Given the description of an element on the screen output the (x, y) to click on. 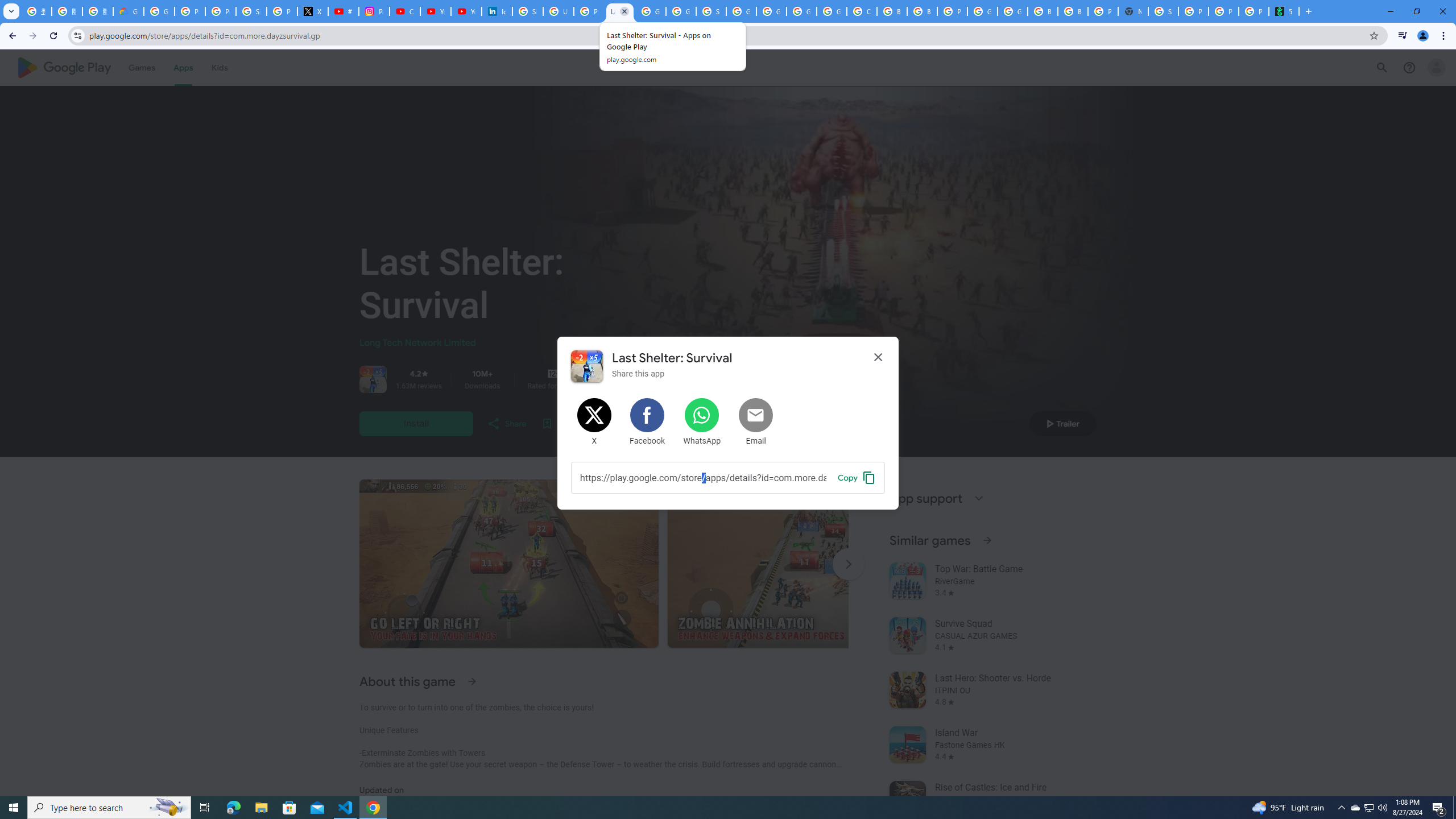
Copy link to clipboard (856, 477)
Privacy Help Center - Policies Help (220, 11)
New Tab (1132, 11)
#nbabasketballhighlights - YouTube (343, 11)
Sign in - Google Accounts (251, 11)
Copy link to clipboard (703, 477)
Share on X (formerly Twitter) (594, 421)
